Given the description of an element on the screen output the (x, y) to click on. 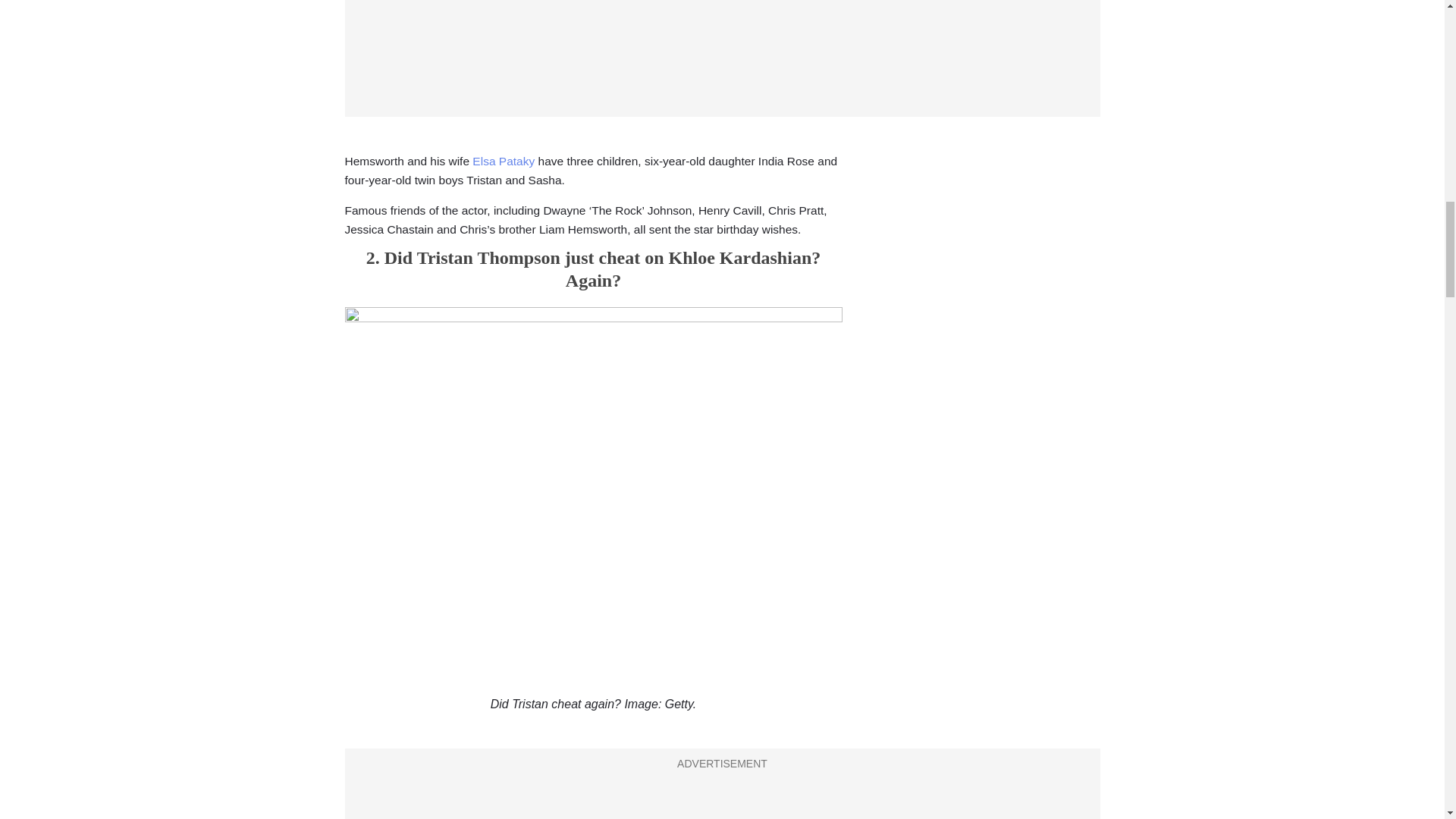
Elsa Pataky (502, 160)
